Given the description of an element on the screen output the (x, y) to click on. 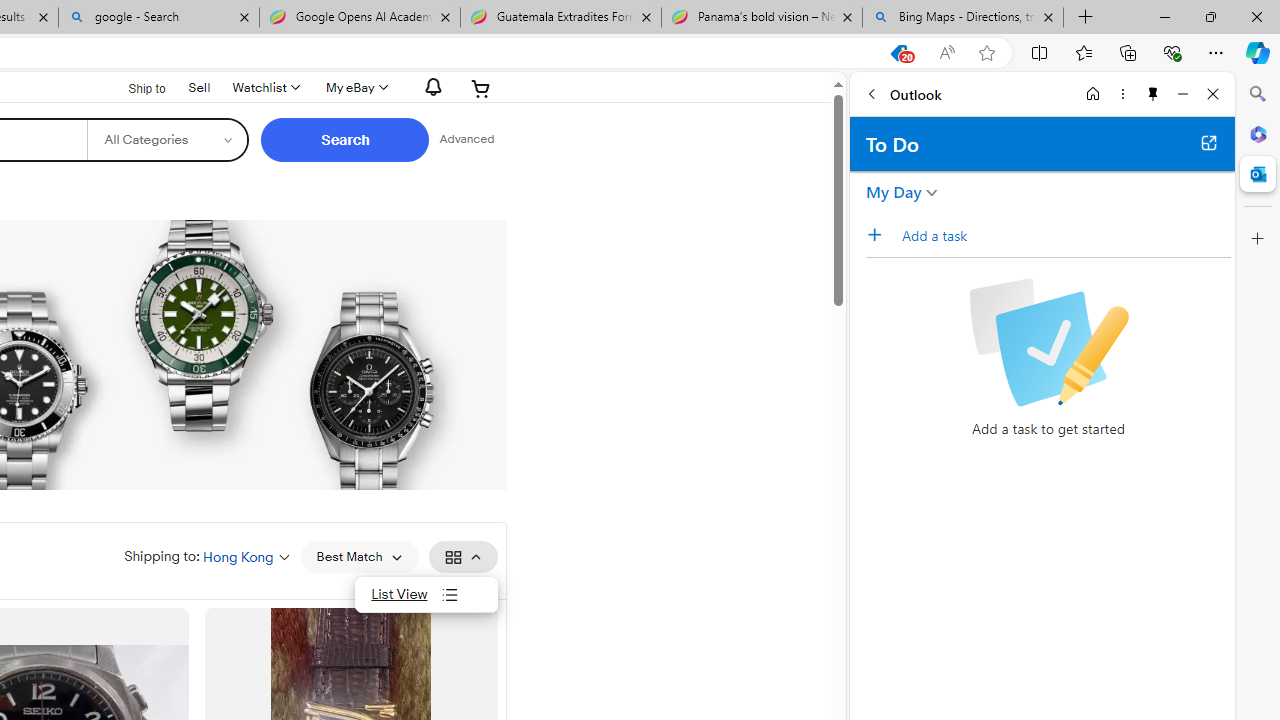
List View (425, 594)
Sort: Best Match (358, 556)
Checkbox with a pencil (1047, 342)
Select a category for search (167, 139)
View: Gallery View (462, 556)
Open in new tab (1208, 142)
AutomationID: gh-eb-Alerts (430, 87)
Your shopping cart (481, 88)
List View (425, 594)
